Given the description of an element on the screen output the (x, y) to click on. 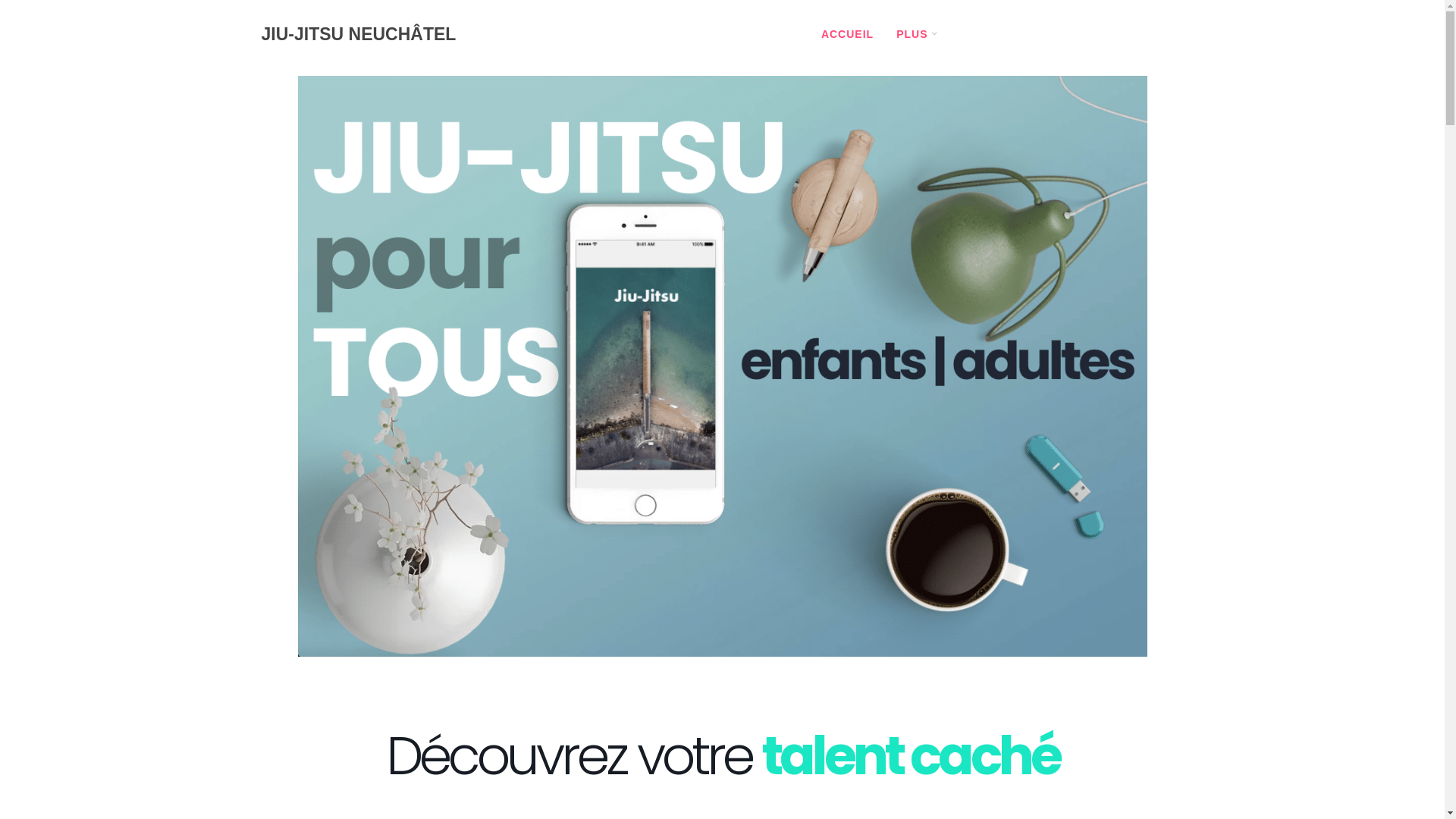
PLUS Element type: text (911, 33)
ACCUEIL Element type: text (846, 33)
BOUTIQUE Element type: text (1065, 33)
MEMBRE Element type: text (1145, 33)
